Given the description of an element on the screen output the (x, y) to click on. 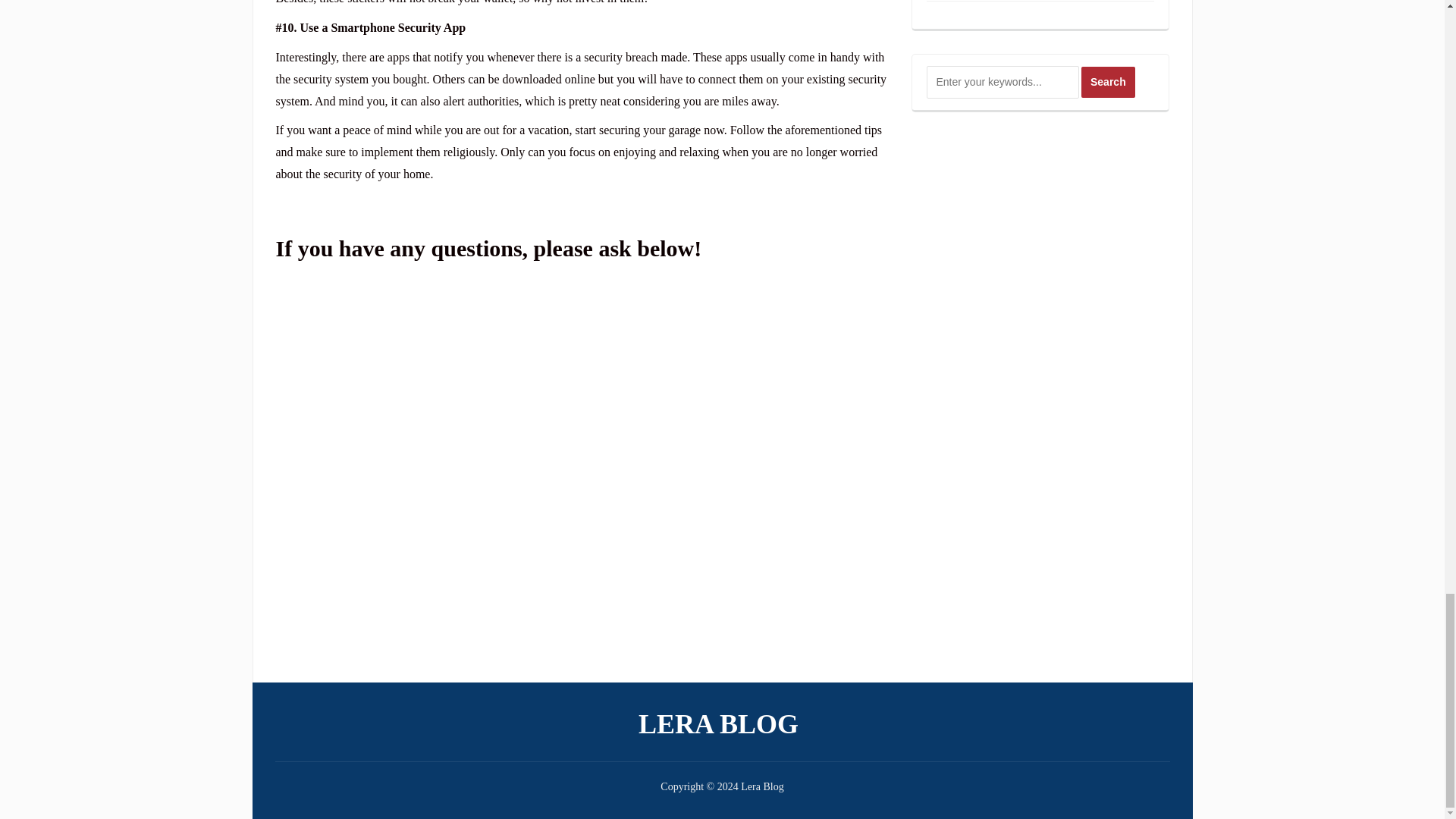
Search (1108, 81)
Search (1108, 81)
